Given the description of an element on the screen output the (x, y) to click on. 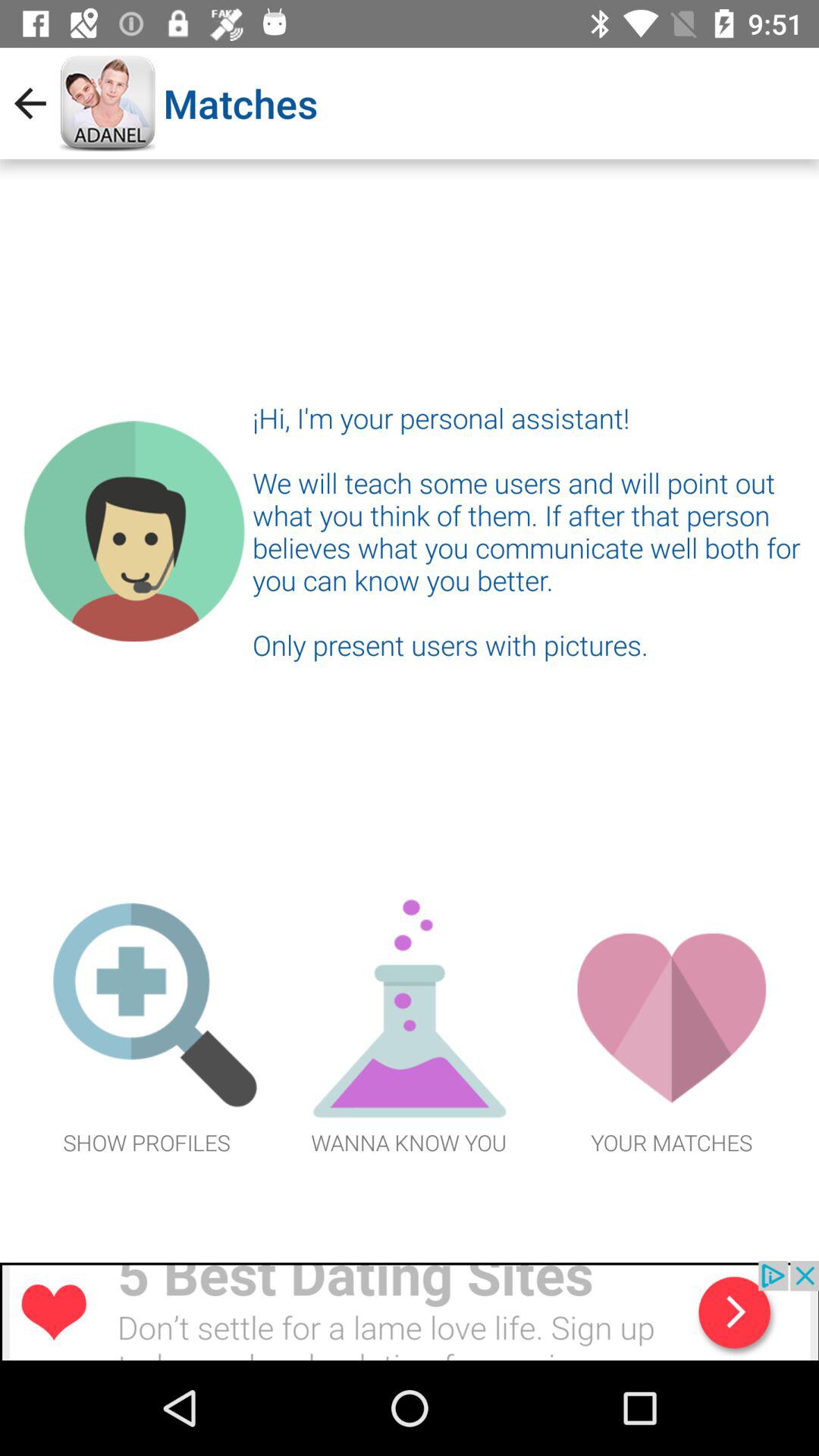
follow advertisement banner (409, 1310)
